Given the description of an element on the screen output the (x, y) to click on. 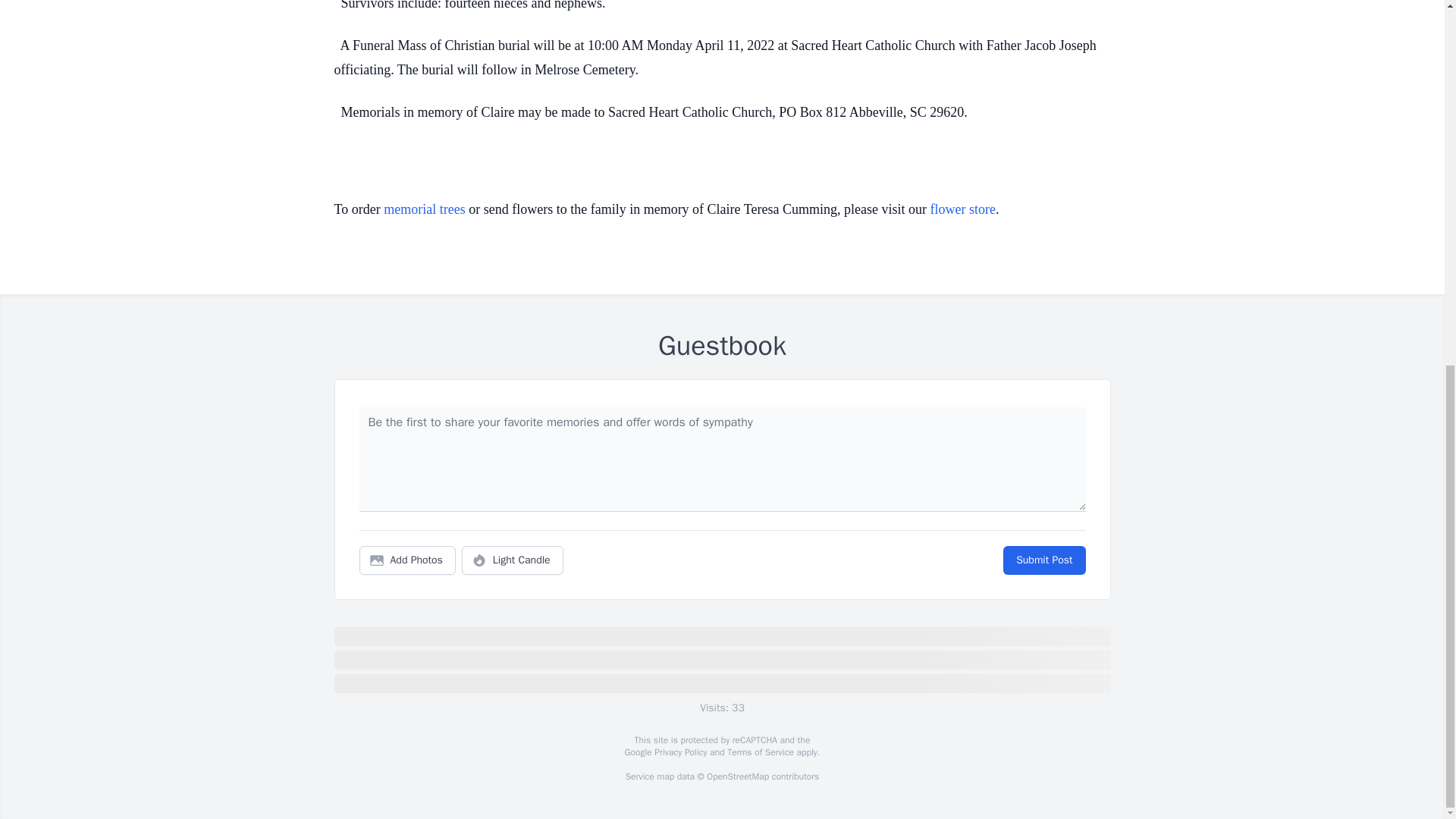
Terms of Service (759, 752)
Submit Post (1043, 560)
OpenStreetMap (737, 776)
flower store (962, 209)
Privacy Policy (679, 752)
Add Photos (407, 560)
memorial trees (424, 209)
Light Candle (512, 560)
